Given the description of an element on the screen output the (x, y) to click on. 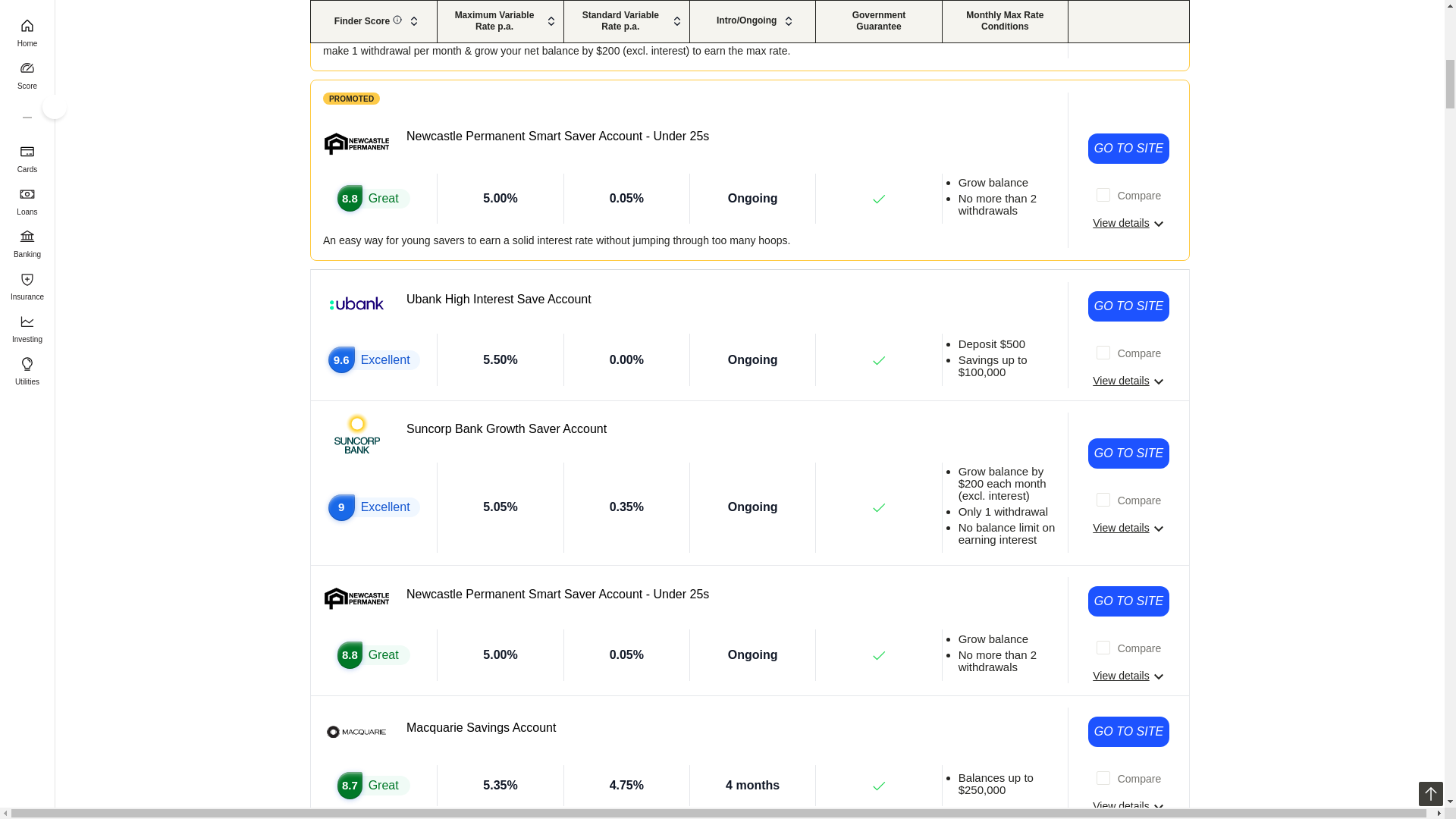
Read More About The Ubank High Interest Save Account (1128, 380)
Read More About The Suncorp Bank Growth Saver Account (1128, 527)
Apply Now For The Suncorp Bank Growth Saver Account (1128, 453)
Important information about this website (351, 98)
Read More About The Suncorp Bank Growth Saver Account (1128, 7)
